Given the description of an element on the screen output the (x, y) to click on. 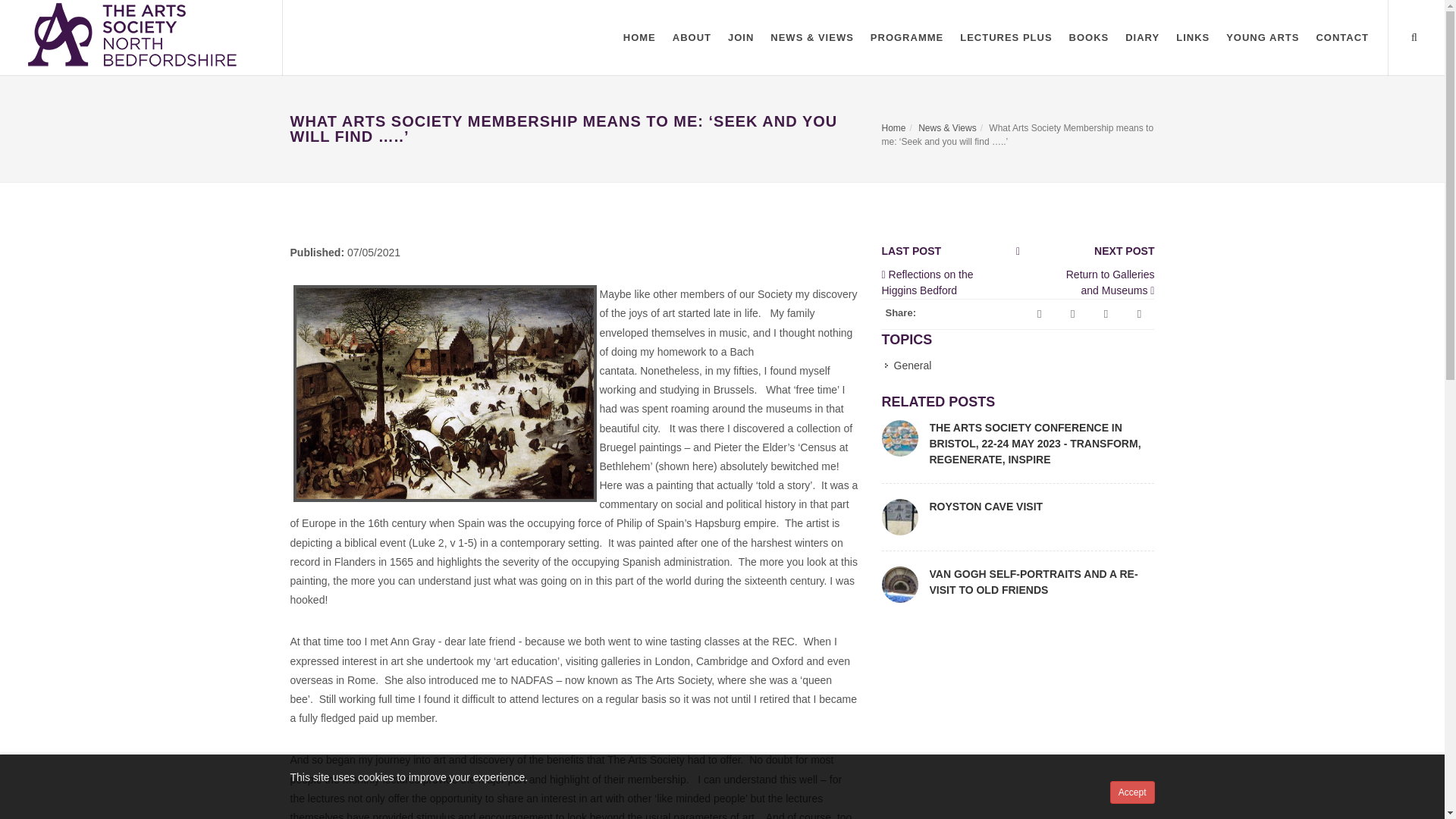
Reflections on the Higgins Bedford (926, 282)
ROYSTON CAVE VISIT (986, 506)
Return to Galleries and Museums (1109, 282)
VAN GOGH SELF-PORTRAITS AND A RE-VISIT TO OLD FRIENDS (1034, 582)
LECTURES PLUS (1005, 38)
Accept (1131, 792)
YOUNG ARTS (1262, 38)
Home (892, 127)
General (908, 365)
